Given the description of an element on the screen output the (x, y) to click on. 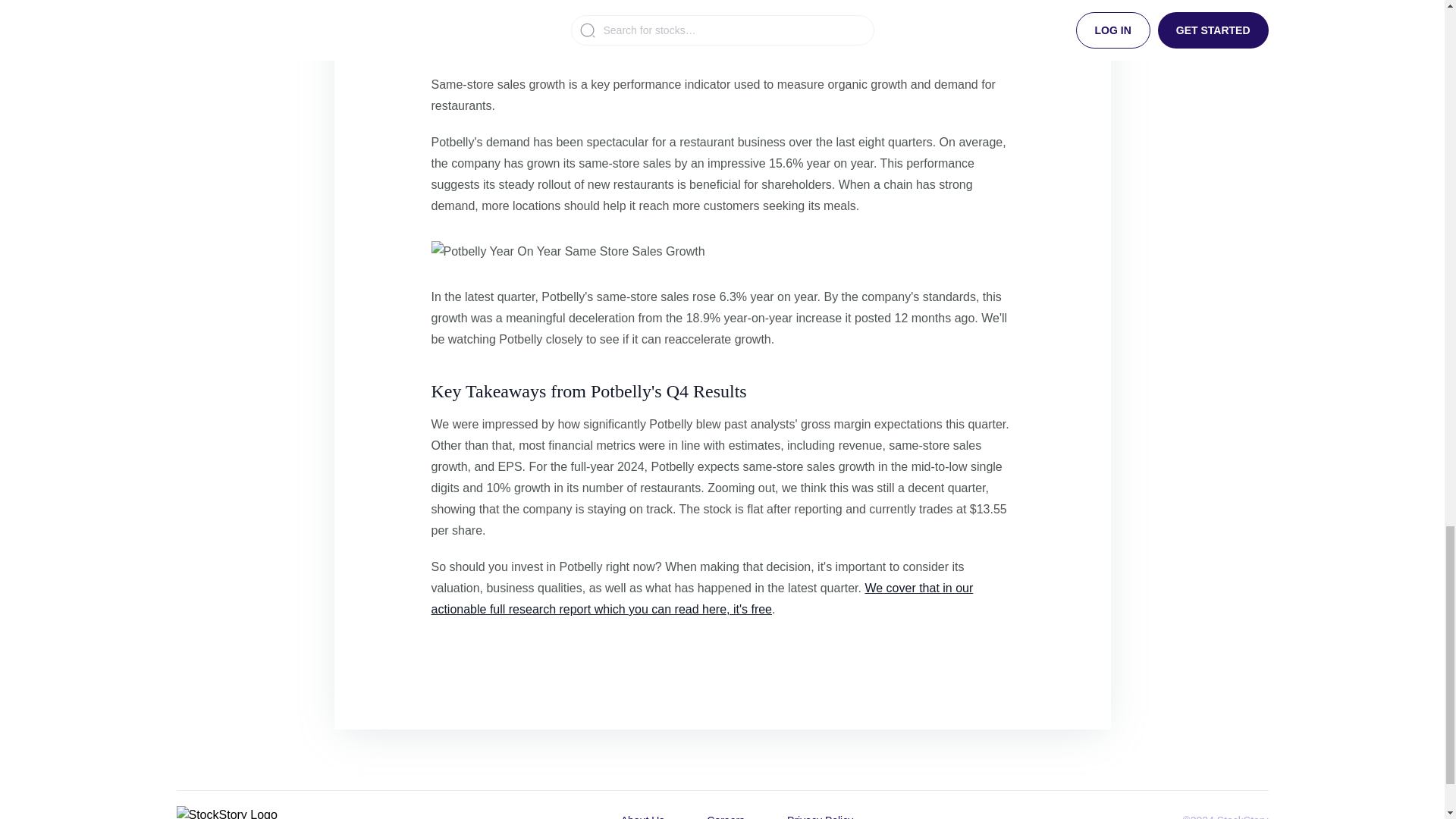
About Us (642, 812)
Careers (725, 812)
Privacy Policy (819, 812)
